Given the description of an element on the screen output the (x, y) to click on. 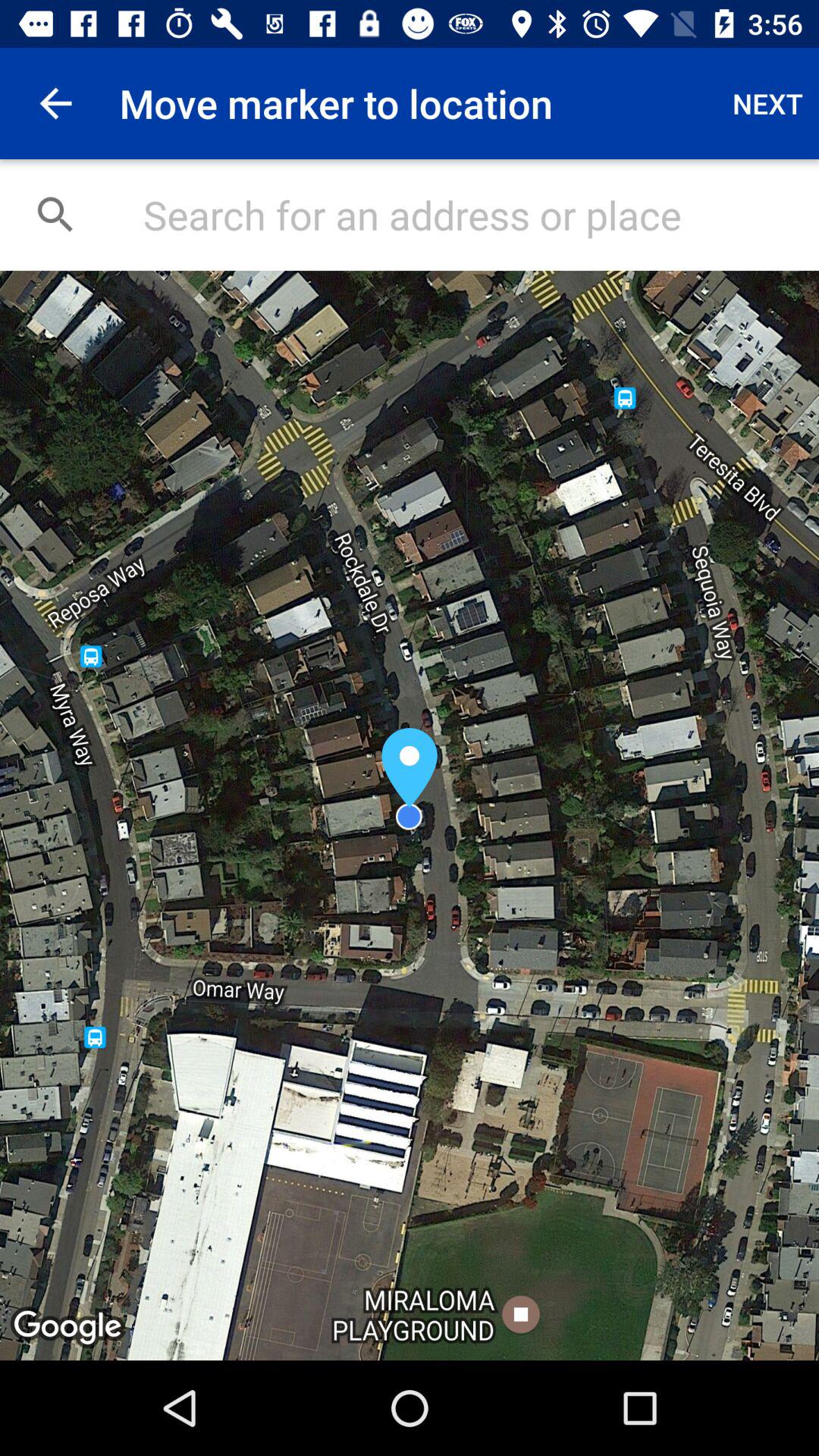
search bar (465, 214)
